Given the description of an element on the screen output the (x, y) to click on. 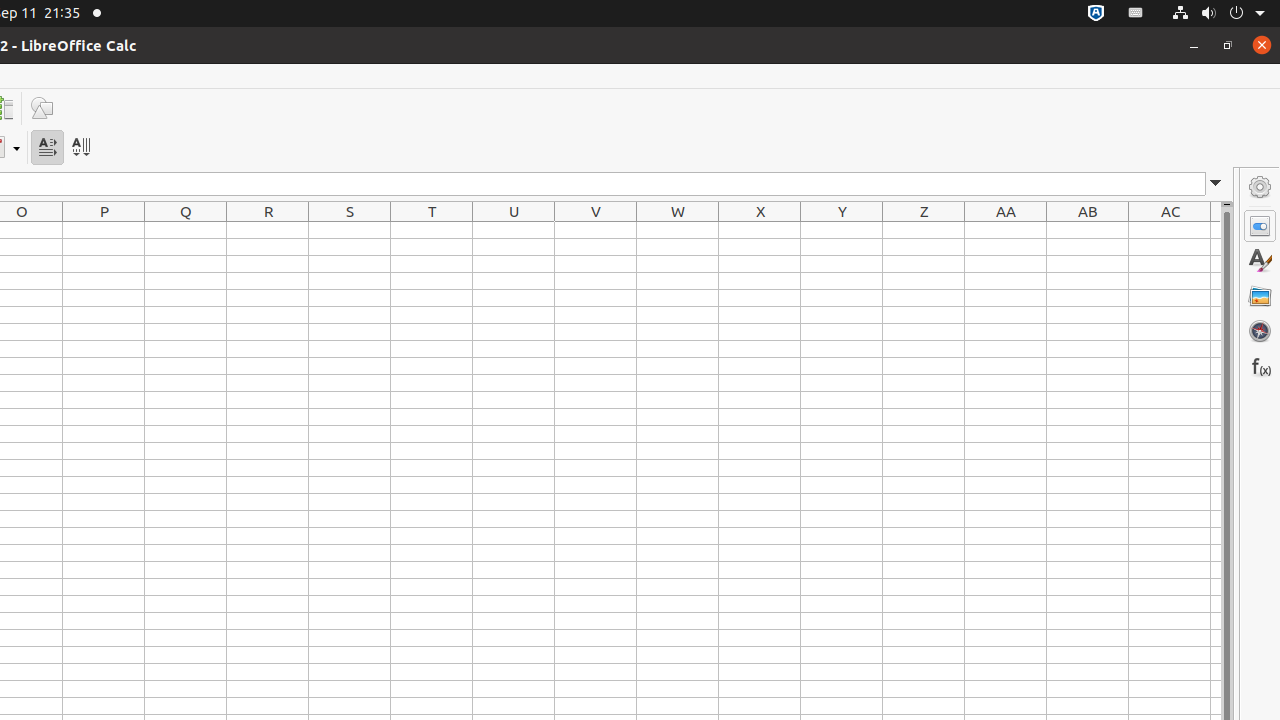
Y1 Element type: table-cell (842, 230)
S1 Element type: table-cell (350, 230)
R1 Element type: table-cell (268, 230)
